Given the description of an element on the screen output the (x, y) to click on. 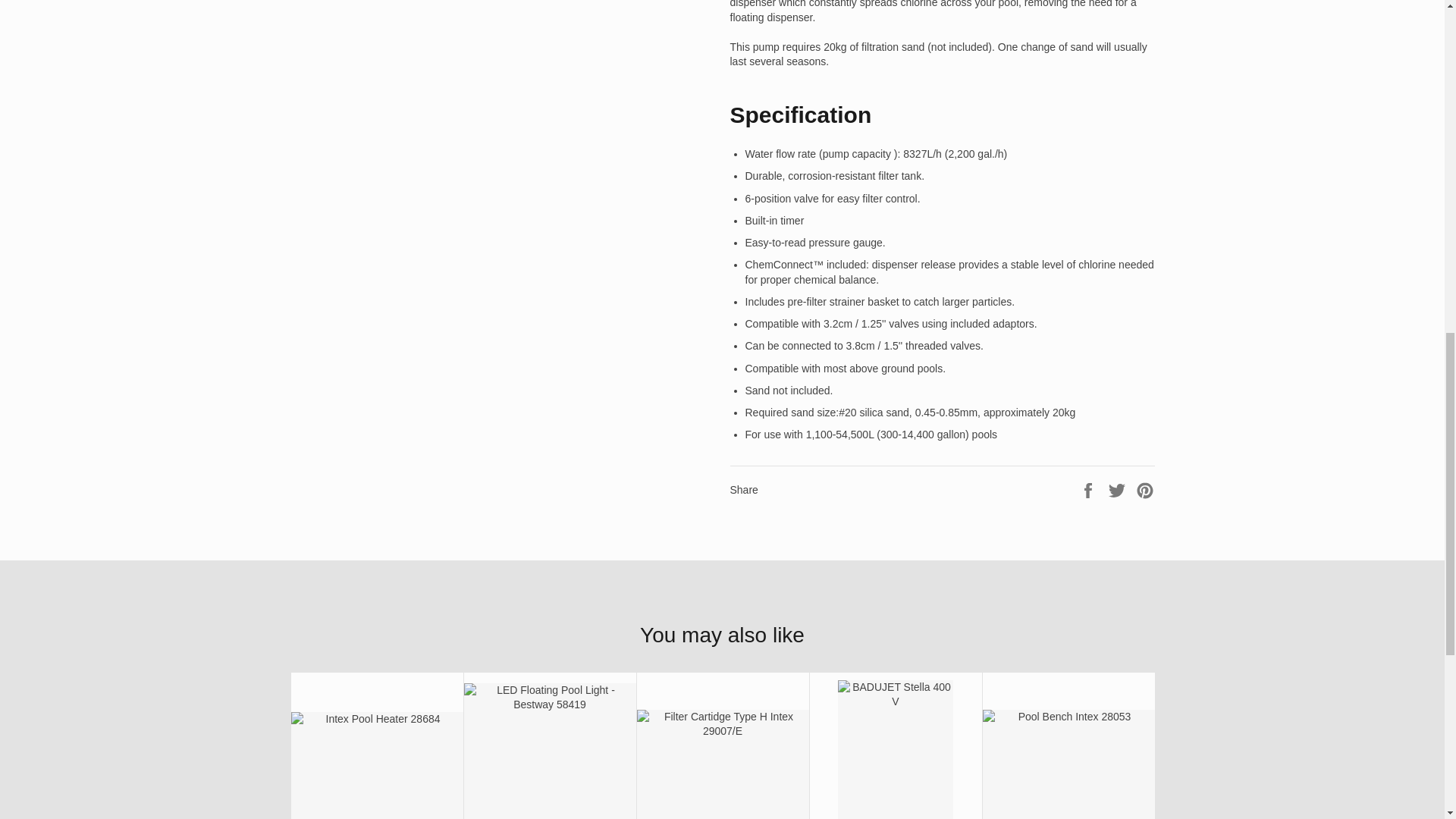
Tweet on Twitter (1118, 489)
Share on Facebook (1089, 489)
Pin on Pinterest (1144, 489)
